Given the description of an element on the screen output the (x, y) to click on. 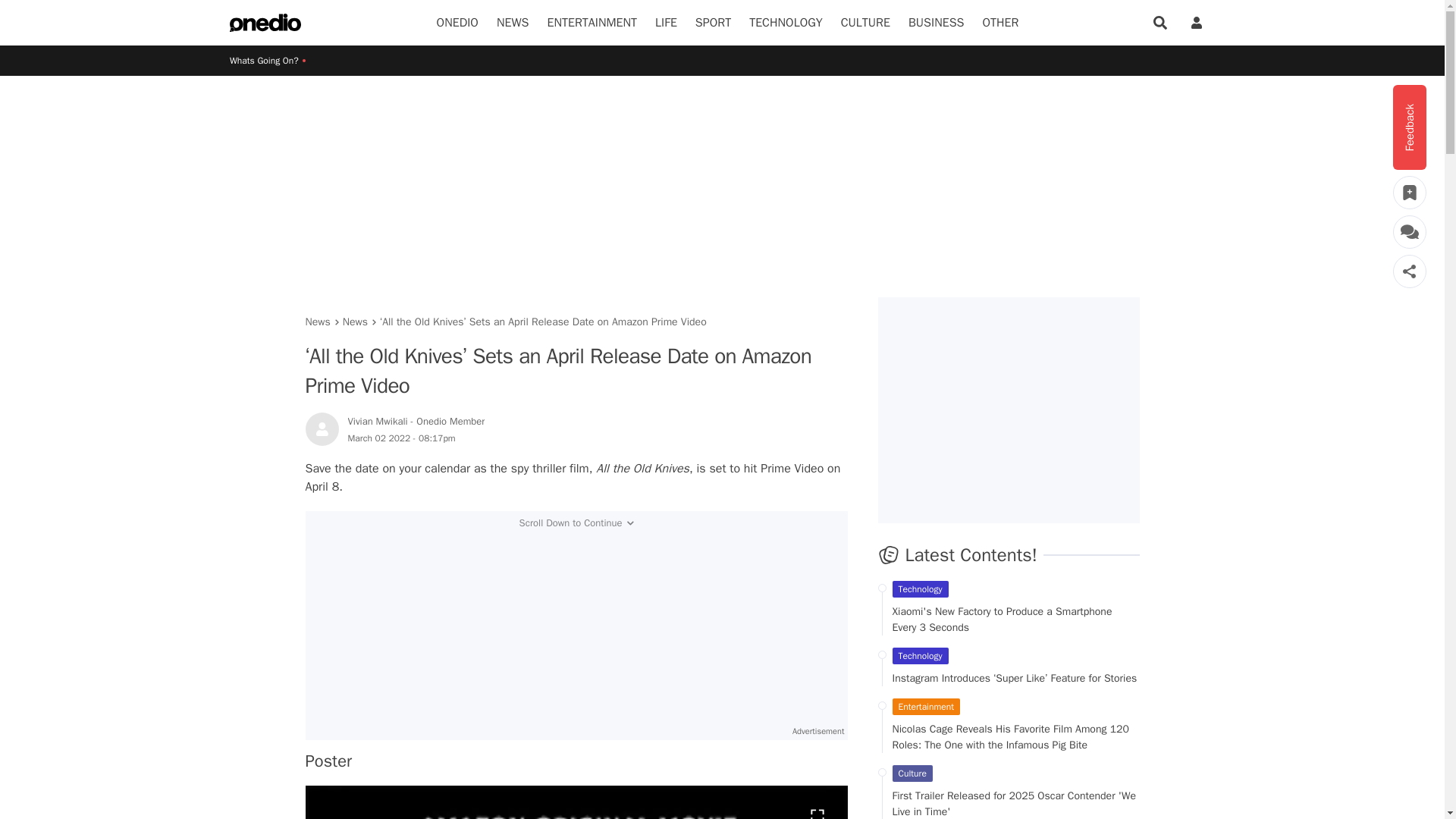
Entertainment (591, 22)
News (512, 22)
Ana Sayfa (265, 22)
ONEDIO (457, 22)
SPORT (712, 22)
LIFE (665, 22)
ENTERTAINMENT (591, 22)
NEWS (512, 22)
Onedio (457, 22)
